Given the description of an element on the screen output the (x, y) to click on. 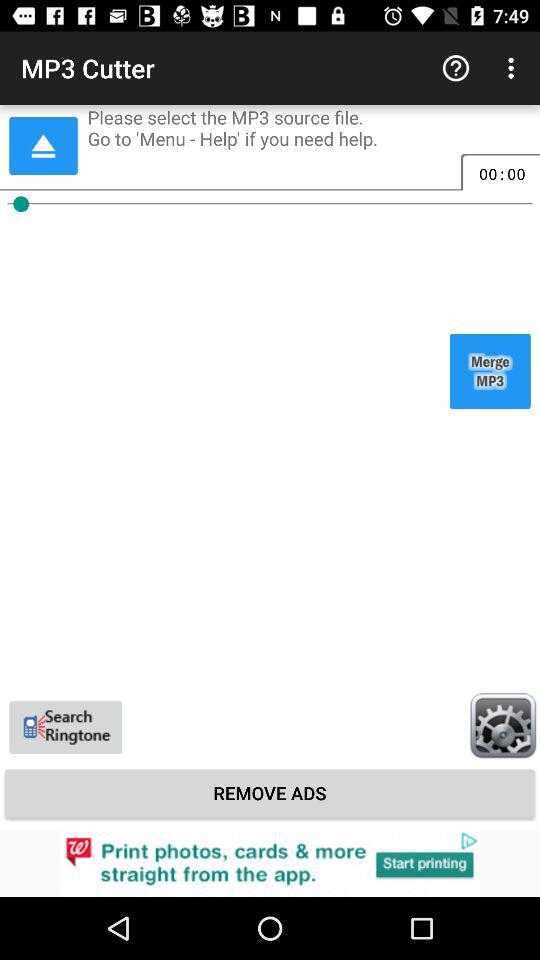
go to options (503, 725)
